Given the description of an element on the screen output the (x, y) to click on. 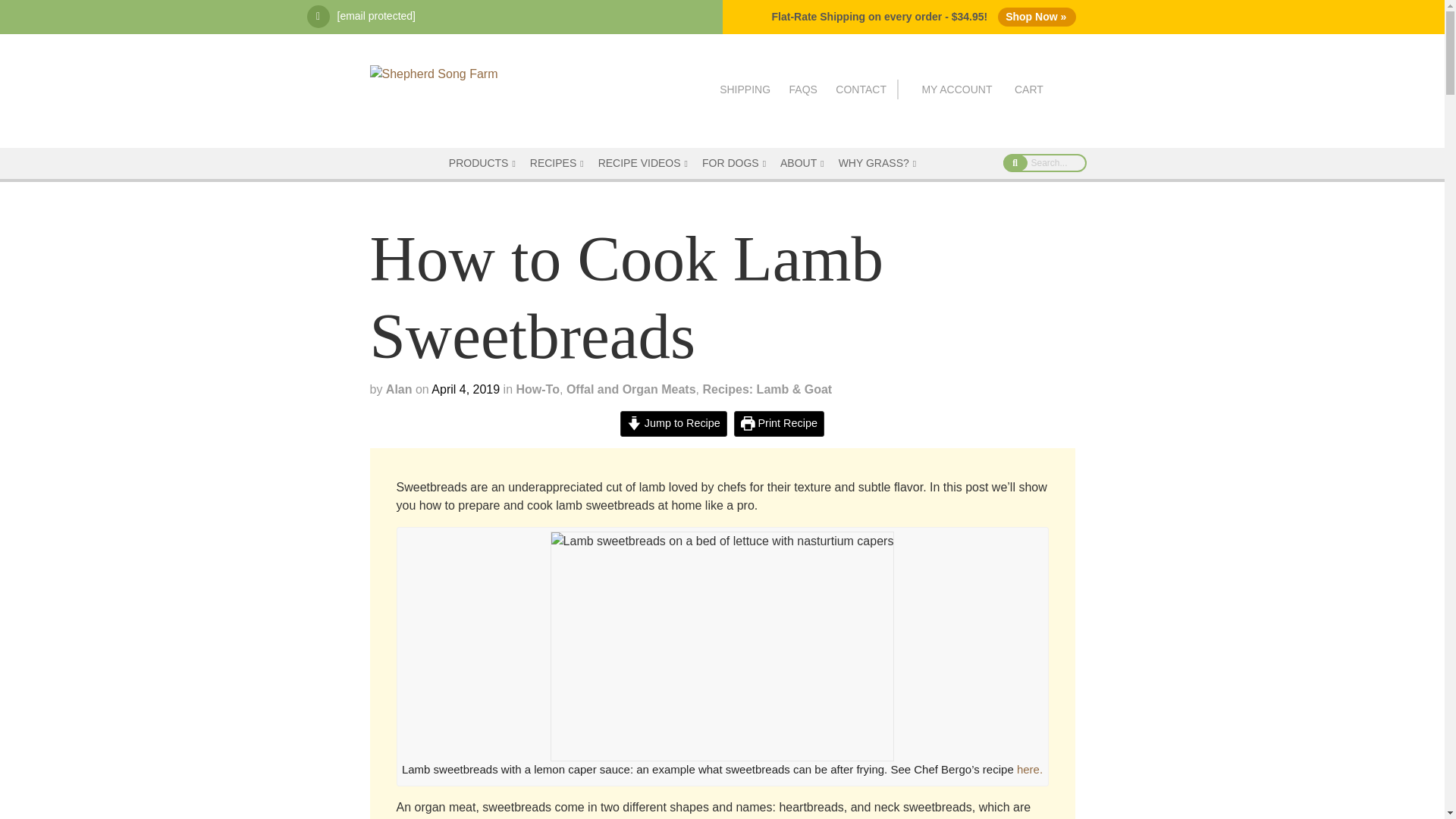
Shepherd Song Farm (433, 72)
SHIPPING (744, 89)
RECIPES (558, 163)
CART (1028, 89)
FAQS (802, 89)
CONTACT (860, 89)
Posts by Alan (398, 389)
MY ACCOUNT (956, 89)
PRODUCTS (484, 163)
